Given the description of an element on the screen output the (x, y) to click on. 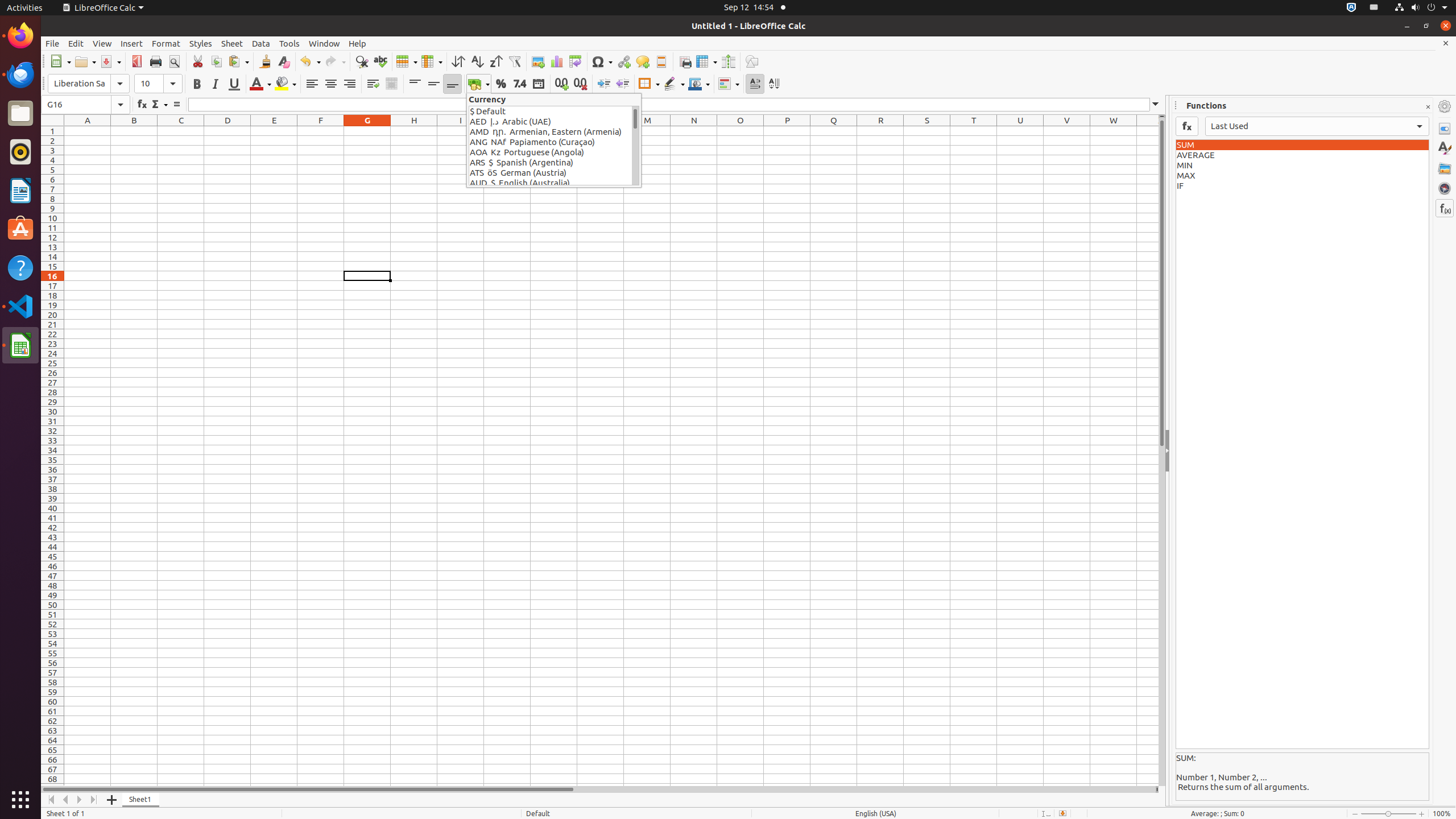
MIN Element type: list-item (1302, 165)
Increase Element type: push-button (603, 83)
Visual Studio Code Element type: push-button (20, 306)
Insert Function into calculation sheet Element type: push-button (1186, 125)
W1 Element type: table-cell (1113, 130)
